Given the description of an element on the screen output the (x, y) to click on. 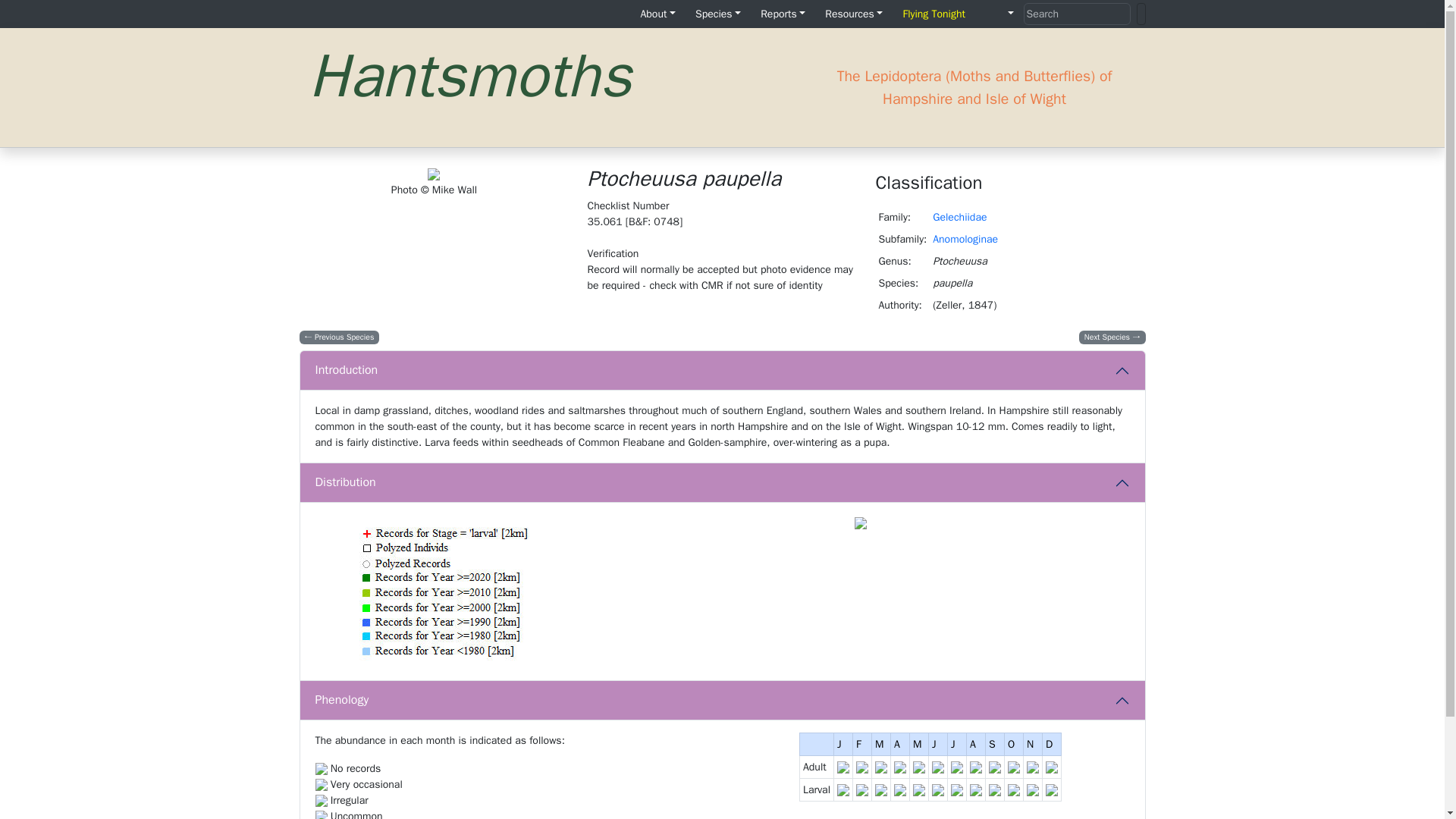
Anomologinae (965, 238)
Flying Tonight (933, 13)
Distribution (721, 482)
About (657, 13)
Phenology (721, 700)
Species (717, 13)
Gelechiidae (960, 216)
Introduction (721, 370)
Reports (782, 13)
Resources (853, 13)
